Given the description of an element on the screen output the (x, y) to click on. 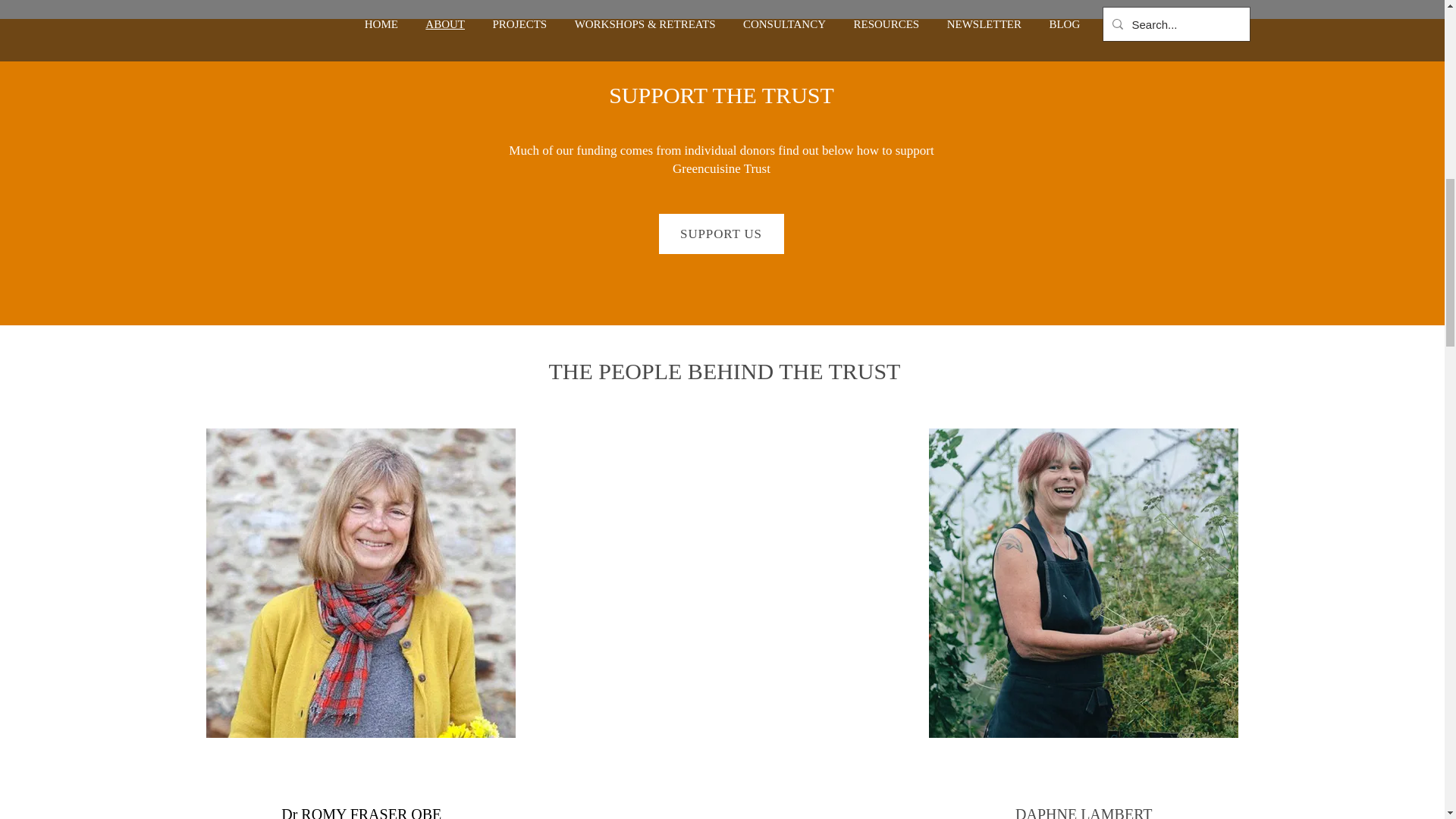
SUPPORT US (720, 233)
